Given the description of an element on the screen output the (x, y) to click on. 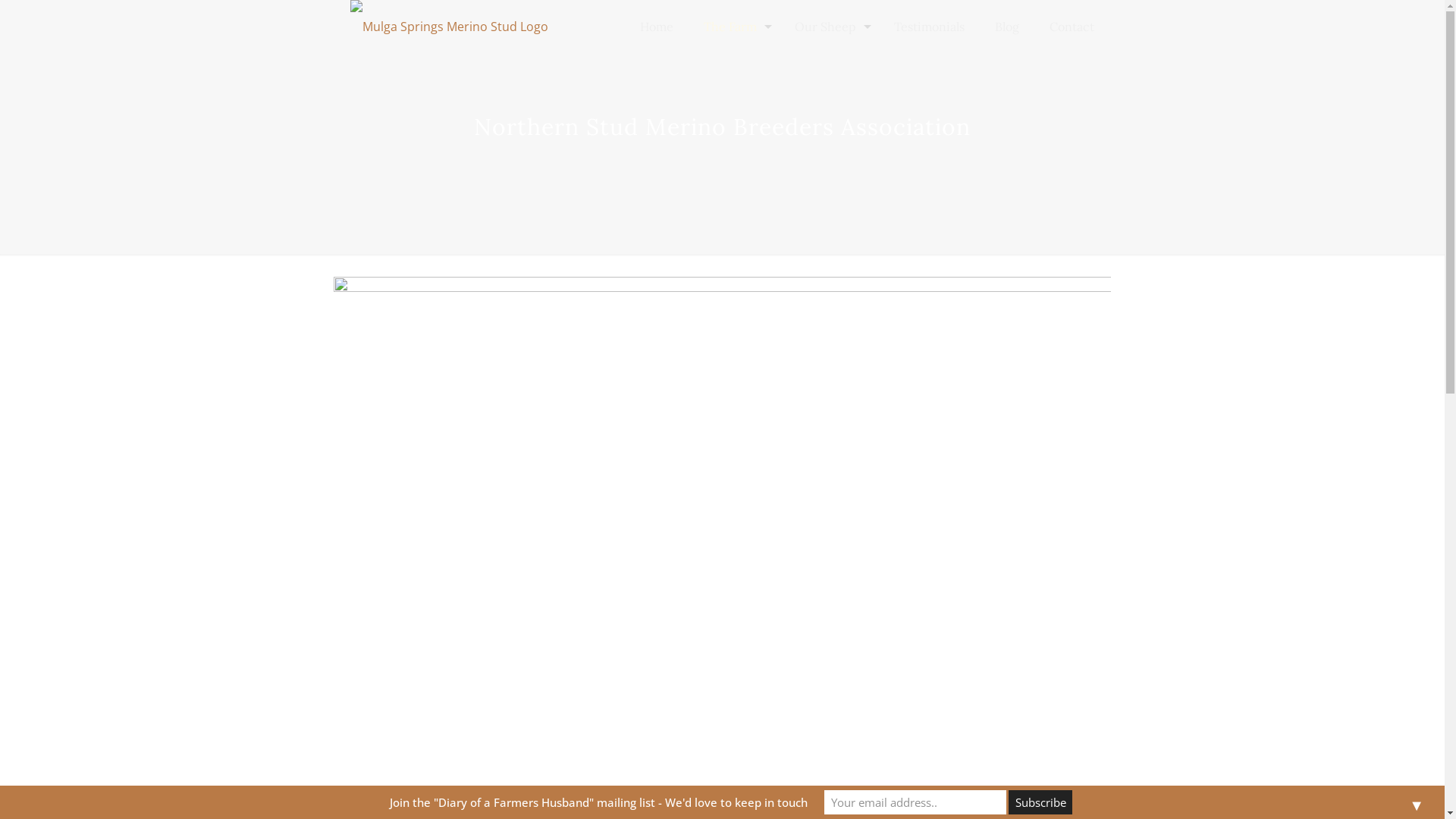
Testimonials Element type: text (928, 26)
Mulga Springs Element type: hover (449, 26)
Our Sheep Element type: text (828, 26)
Blog Element type: text (1006, 26)
Contact Element type: text (1071, 26)
The Farm Element type: text (733, 26)
Home Element type: text (656, 26)
Subscribe Element type: text (1040, 802)
